Given the description of an element on the screen output the (x, y) to click on. 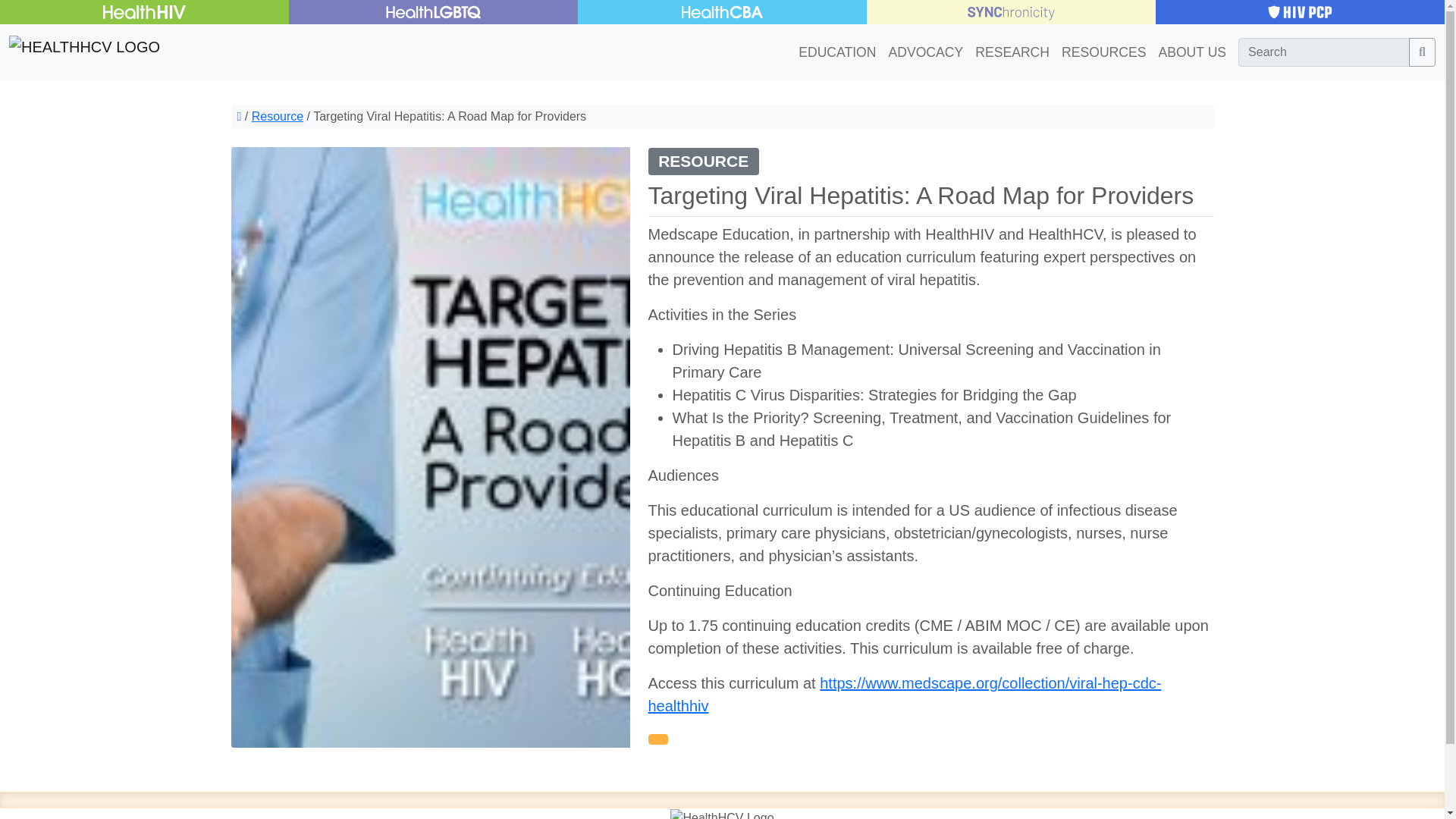
RESEARCH (1012, 51)
EDUCATION (837, 51)
Resource (276, 115)
ABOUT US (1188, 51)
RESOURCES (1103, 51)
ADVOCACY (925, 51)
